Given the description of an element on the screen output the (x, y) to click on. 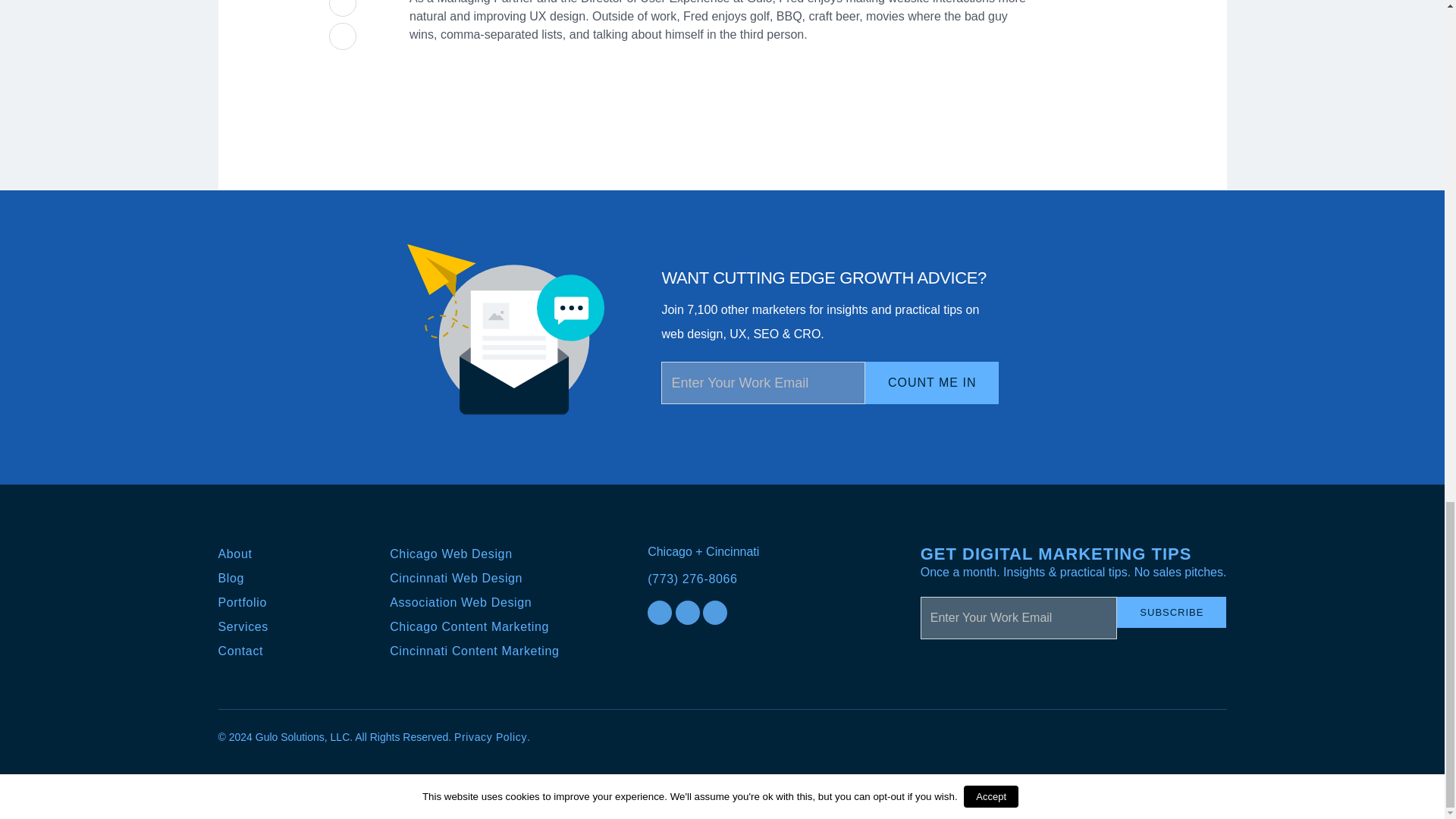
Give us a ring! (721, 579)
Contact (240, 651)
About (234, 554)
Cincinnati Content Marketing (474, 651)
Privacy Policy (490, 737)
Chicago Web Design (451, 554)
Subscribe (1170, 612)
Association Web Design (460, 602)
Cincinnati Web Design (456, 578)
Portfolio (242, 602)
